Given the description of an element on the screen output the (x, y) to click on. 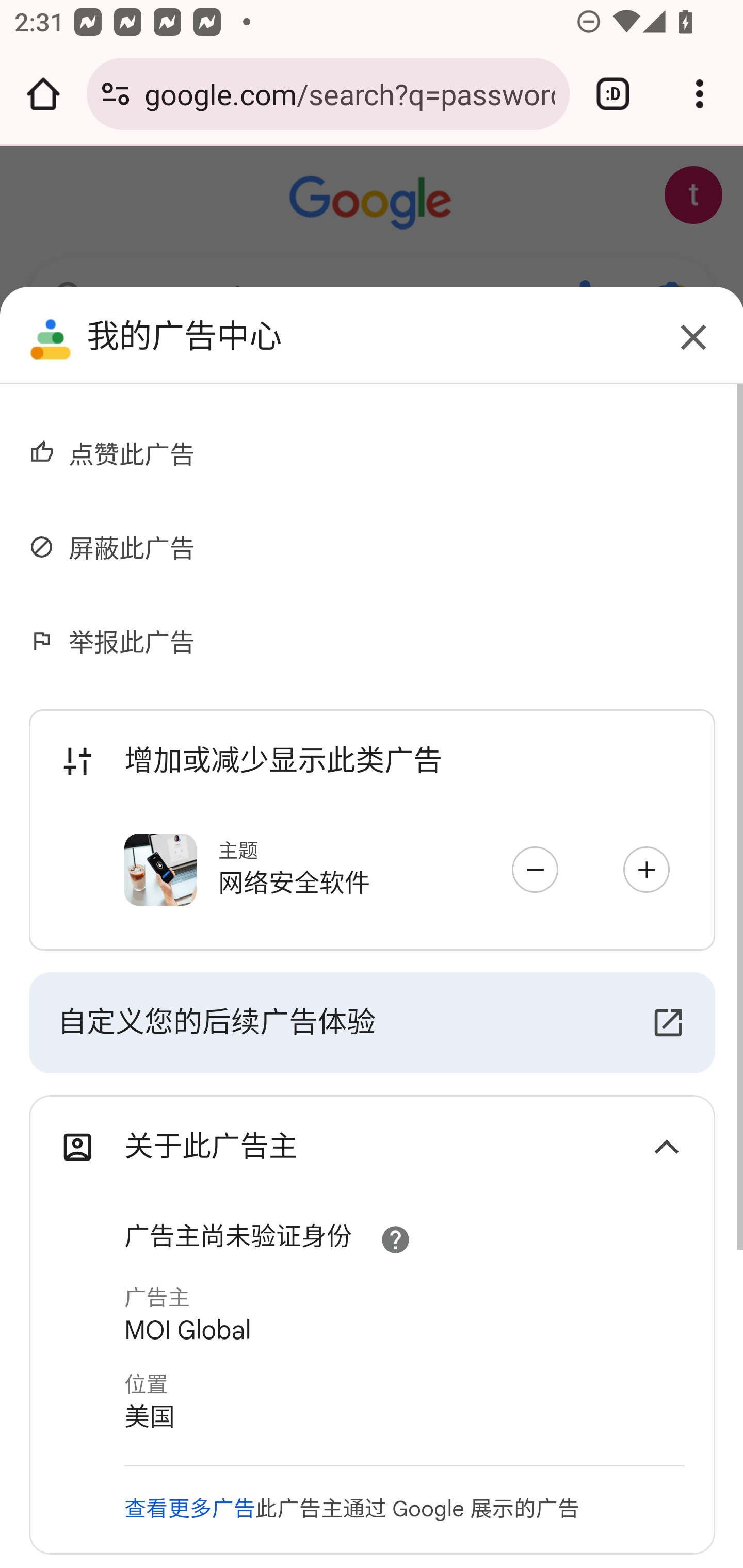
Open the home page (43, 93)
Connection is secure (115, 93)
Switch or close tabs (612, 93)
Customize and control Google Chrome (699, 93)
